Given the description of an element on the screen output the (x, y) to click on. 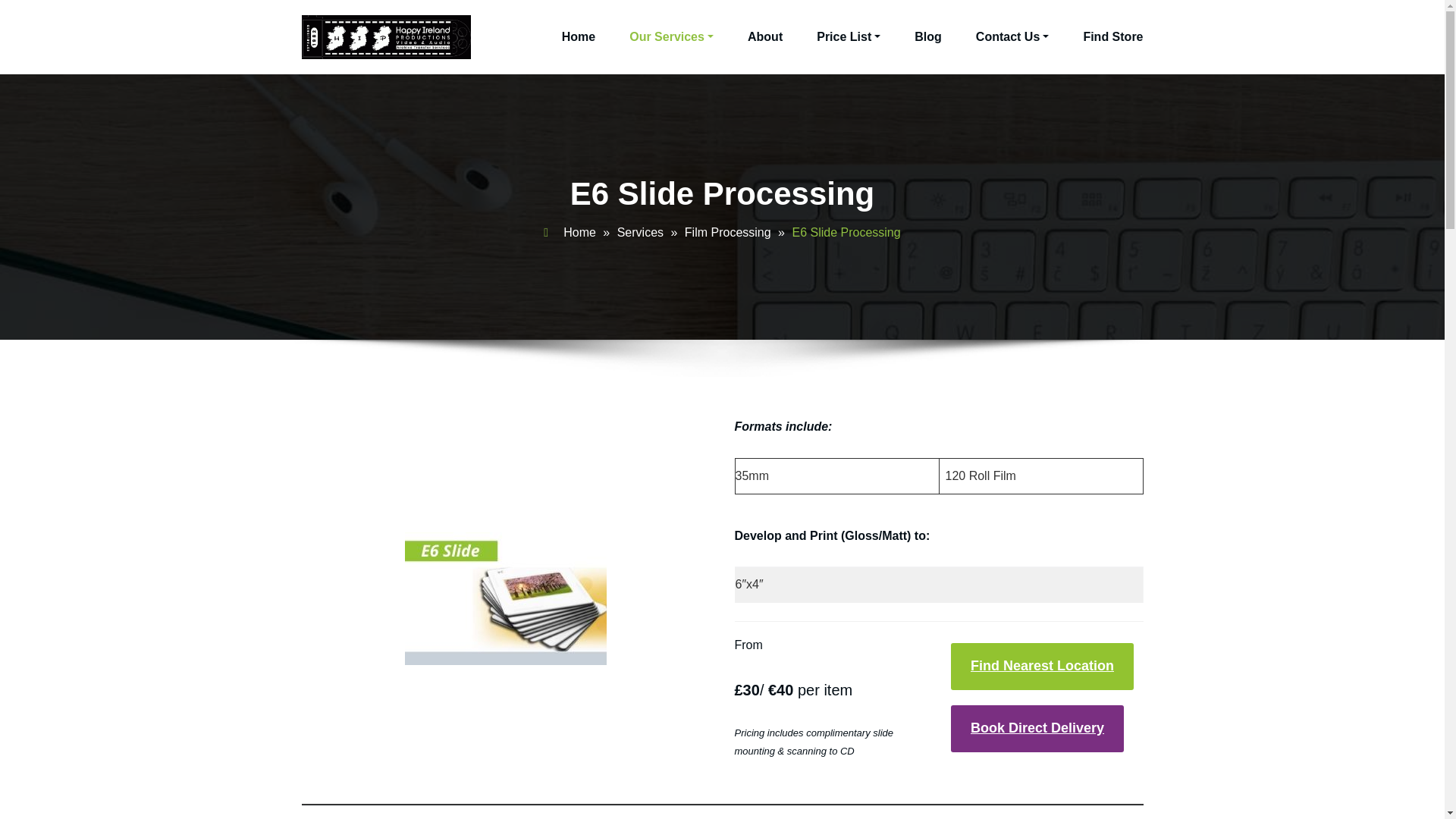
Our Services (670, 37)
Home (578, 37)
Happy Ireland Productions (626, 51)
